Given the description of an element on the screen output the (x, y) to click on. 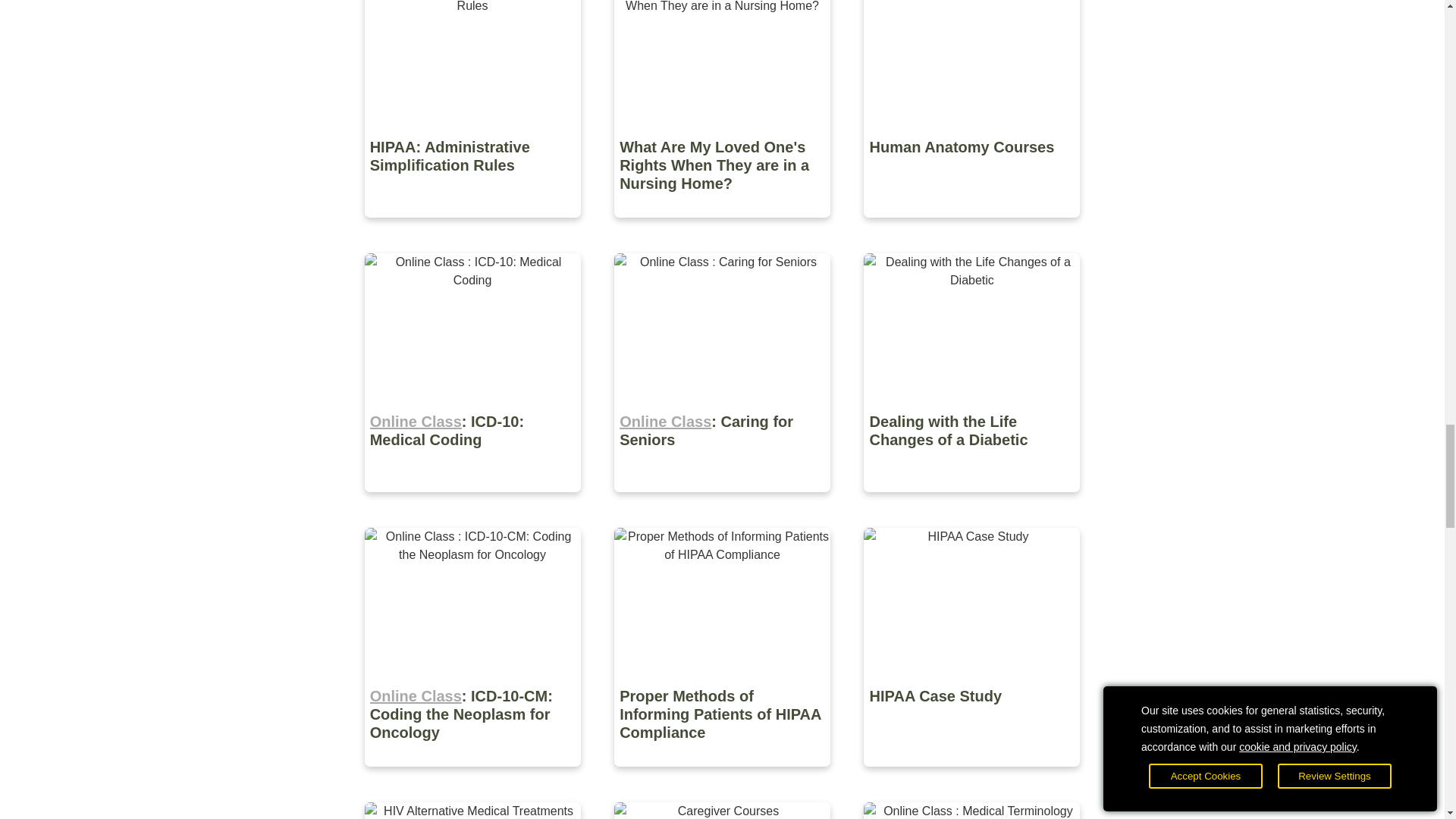
Online Class: ICD-10-CM: Coding the Neoplasm for Oncology (473, 777)
HIPAA: Administrative Simplification Rules (473, 228)
Online Class: ICD-10: Medical Coding (473, 502)
Human Anatomy Courses (971, 228)
Dealing with the Life Changes of a Diabetic (971, 502)
Online Class: Caring for Seniors (723, 502)
Proper Methods of Informing Patients of HIPAA Compliance (723, 777)
HIPAA Case Study (971, 777)
